Given the description of an element on the screen output the (x, y) to click on. 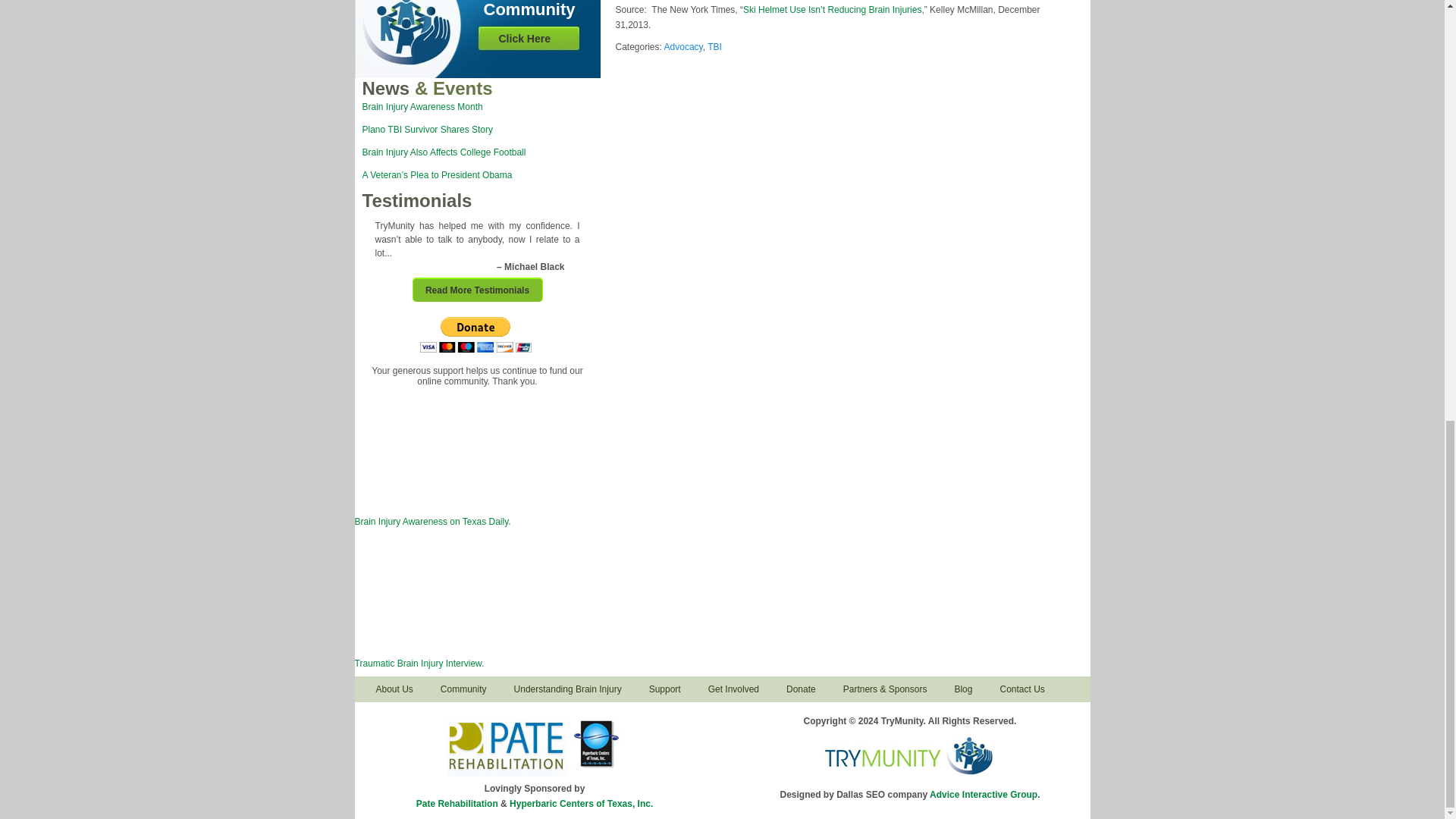
Brain Injury Also Affects College Football (443, 152)
Plano TBI Survivor Shares Story (427, 129)
Click Here (524, 38)
Brain Injury Awareness Month (422, 106)
Brain Injury Awareness Month (422, 106)
